Given the description of an element on the screen output the (x, y) to click on. 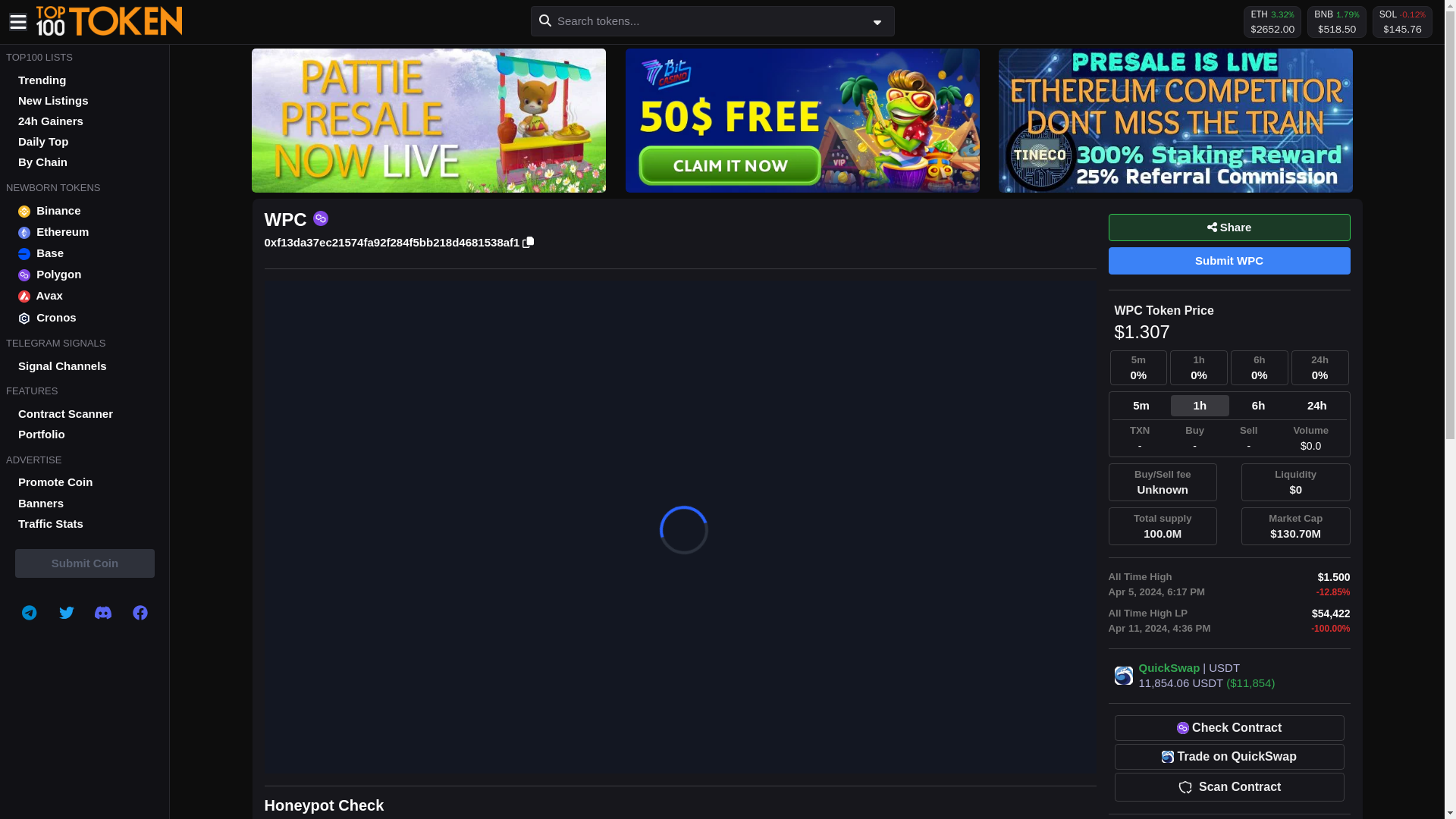
Portfolio (85, 435)
Daily Top (85, 141)
Signal Channels (85, 365)
Share (1229, 226)
Polygon (85, 274)
Base (85, 252)
Binance (85, 210)
Submit Coin (84, 563)
Search tokens... (713, 20)
Promote Coin (85, 482)
